Given the description of an element on the screen output the (x, y) to click on. 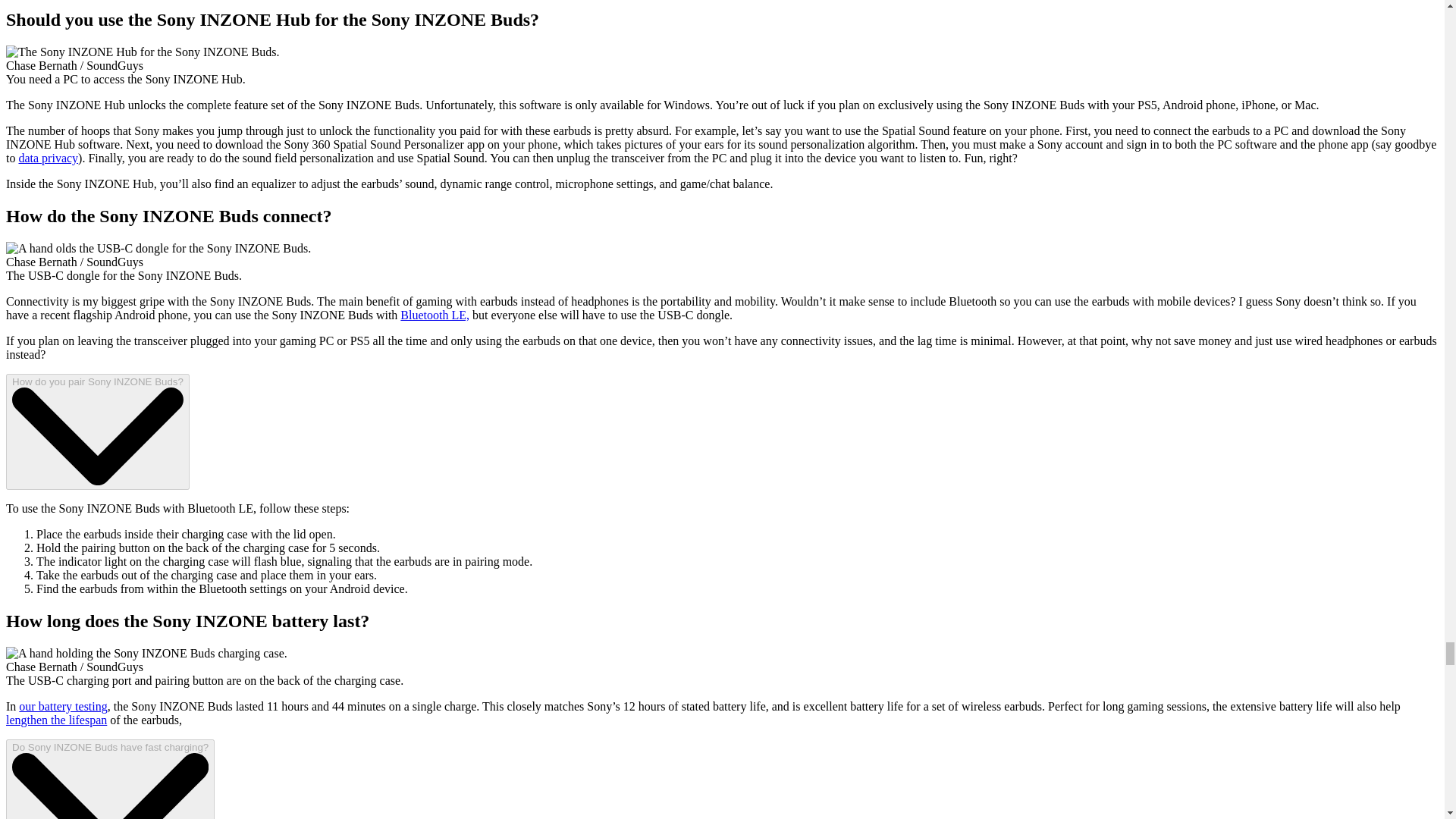
Sony INZONE Buds charging port (145, 653)
Bluetooth LE, (434, 314)
data privacy (47, 157)
Sony-INZONE-Hub (142, 51)
Do Sony INZONE Buds have fast charging? (109, 779)
lengthen the lifespan (55, 719)
our battery testing (62, 706)
How do you pair Sony INZONE Buds? (97, 431)
Sony INZONE Transreceiver (158, 248)
